Given the description of an element on the screen output the (x, y) to click on. 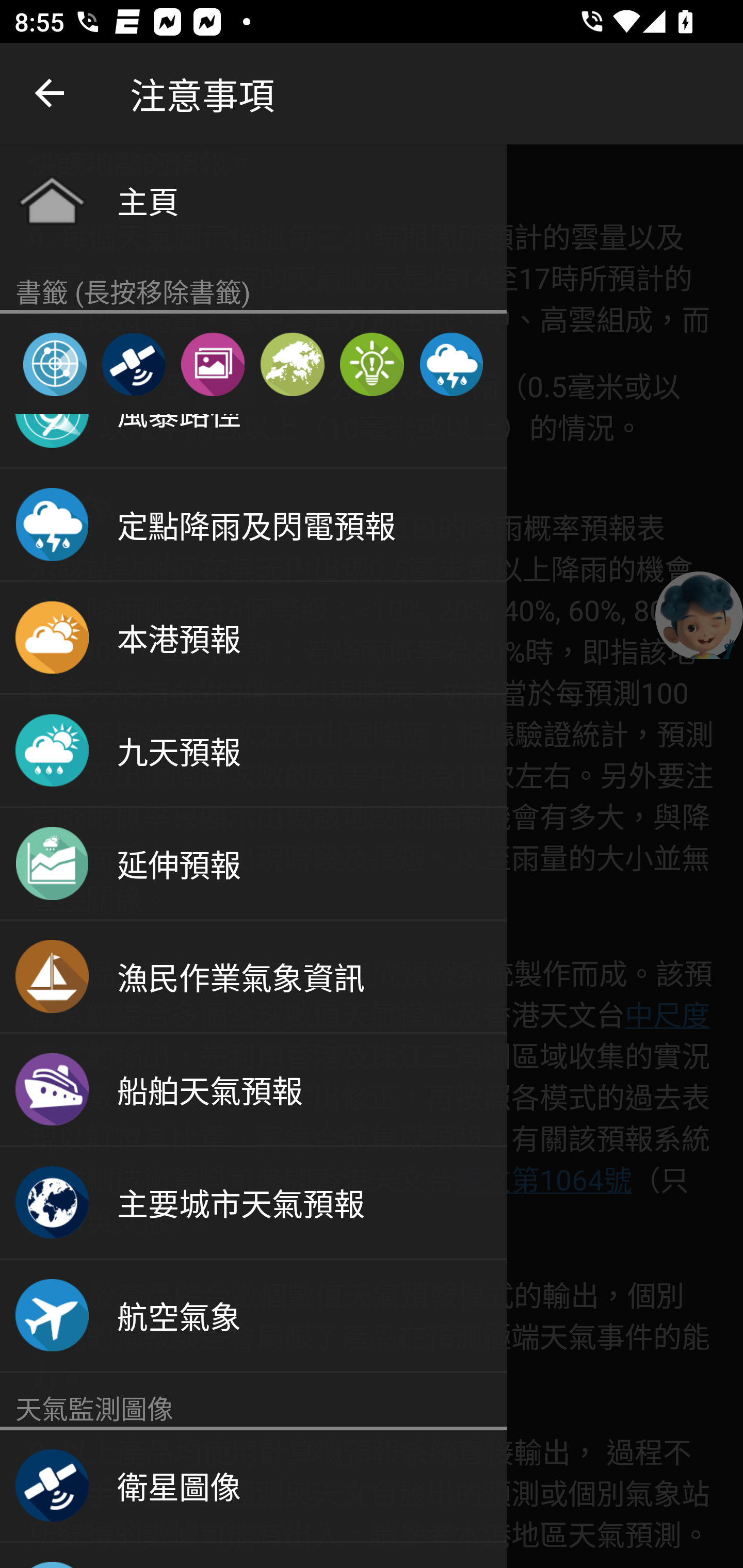
向上瀏覽 (50, 93)
主頁 (253, 199)
雷達圖像 (54, 364)
衛星圖像 (133, 364)
天氣照片 (212, 364)
分區天氣 (292, 364)
天氣提示 (371, 364)
定點降雨及閃電預報 (451, 364)
定點降雨及閃電預報 (253, 524)
本港預報 (253, 637)
九天預報 (253, 750)
延伸預報 (253, 864)
漁民作業氣象資訊 (253, 977)
船舶天氣預報 (253, 1090)
主要城市天氣預報 (253, 1203)
航空氣象 (253, 1316)
衛星圖像 (253, 1486)
